Given the description of an element on the screen output the (x, y) to click on. 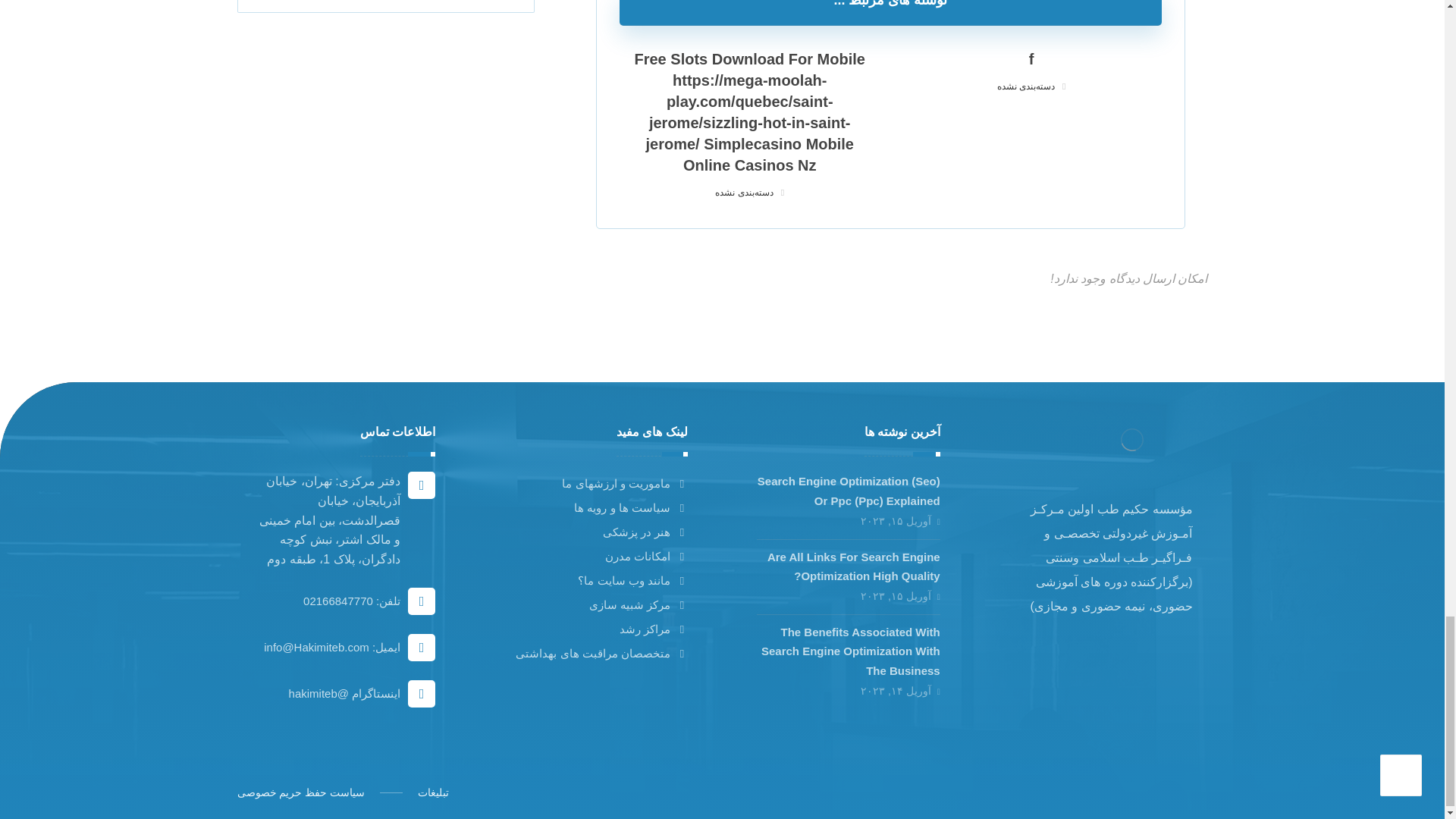
Are All Links For Search Engine Optimization High Quality? (853, 566)
